Given the description of an element on the screen output the (x, y) to click on. 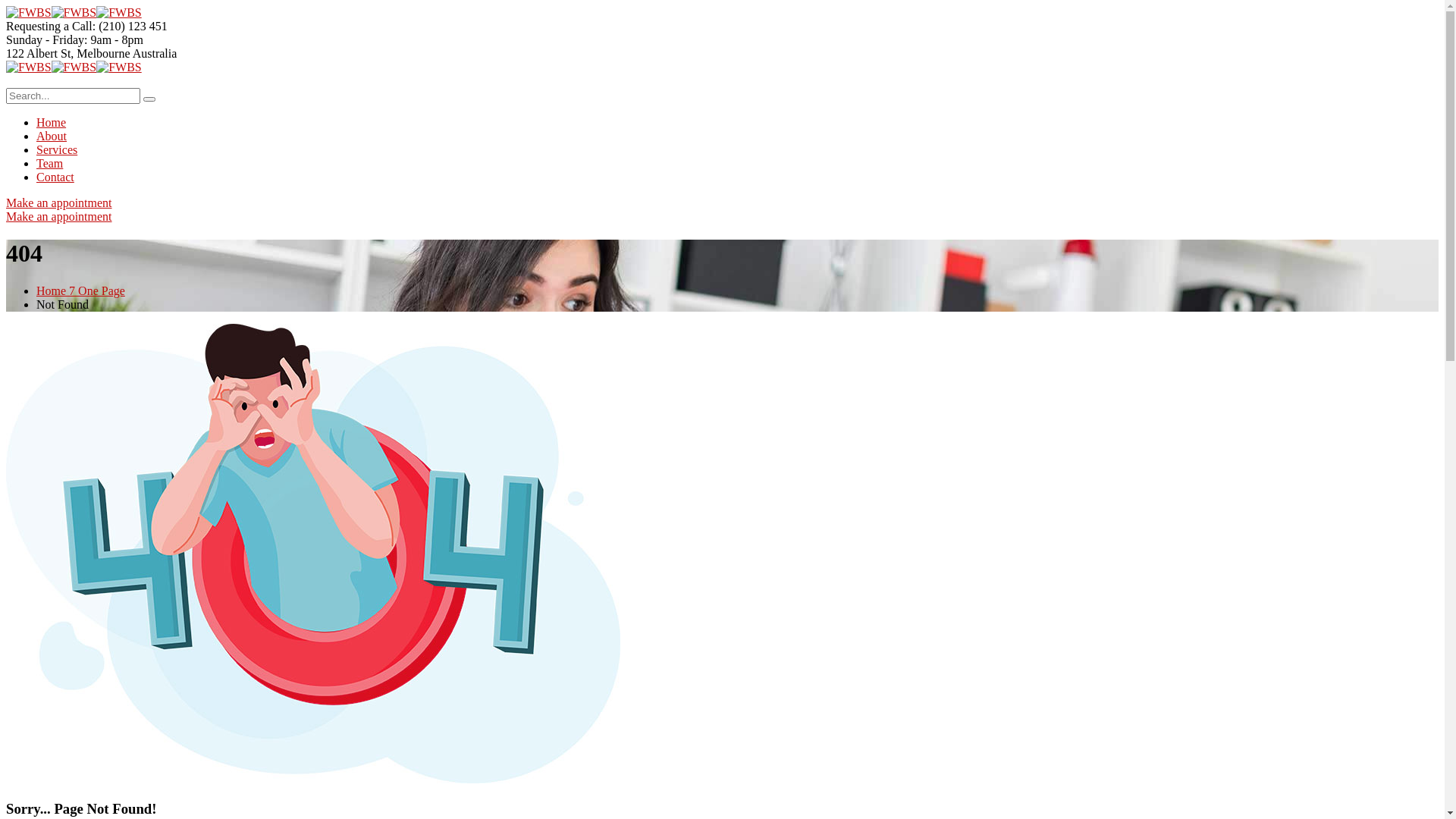
About Element type: text (51, 135)
FWBS Element type: hover (74, 66)
Home Element type: text (50, 122)
Contact Element type: text (55, 176)
FWBS Element type: hover (28, 66)
FWBS Element type: hover (74, 12)
Team Element type: text (49, 162)
Make an appointment Element type: text (59, 216)
Home 7 One Page Element type: text (80, 290)
Services Element type: text (56, 149)
FWBS Element type: hover (118, 66)
Make an appointment Element type: text (59, 202)
FWBS Element type: hover (118, 12)
FWBS Element type: hover (28, 12)
